Given the description of an element on the screen output the (x, y) to click on. 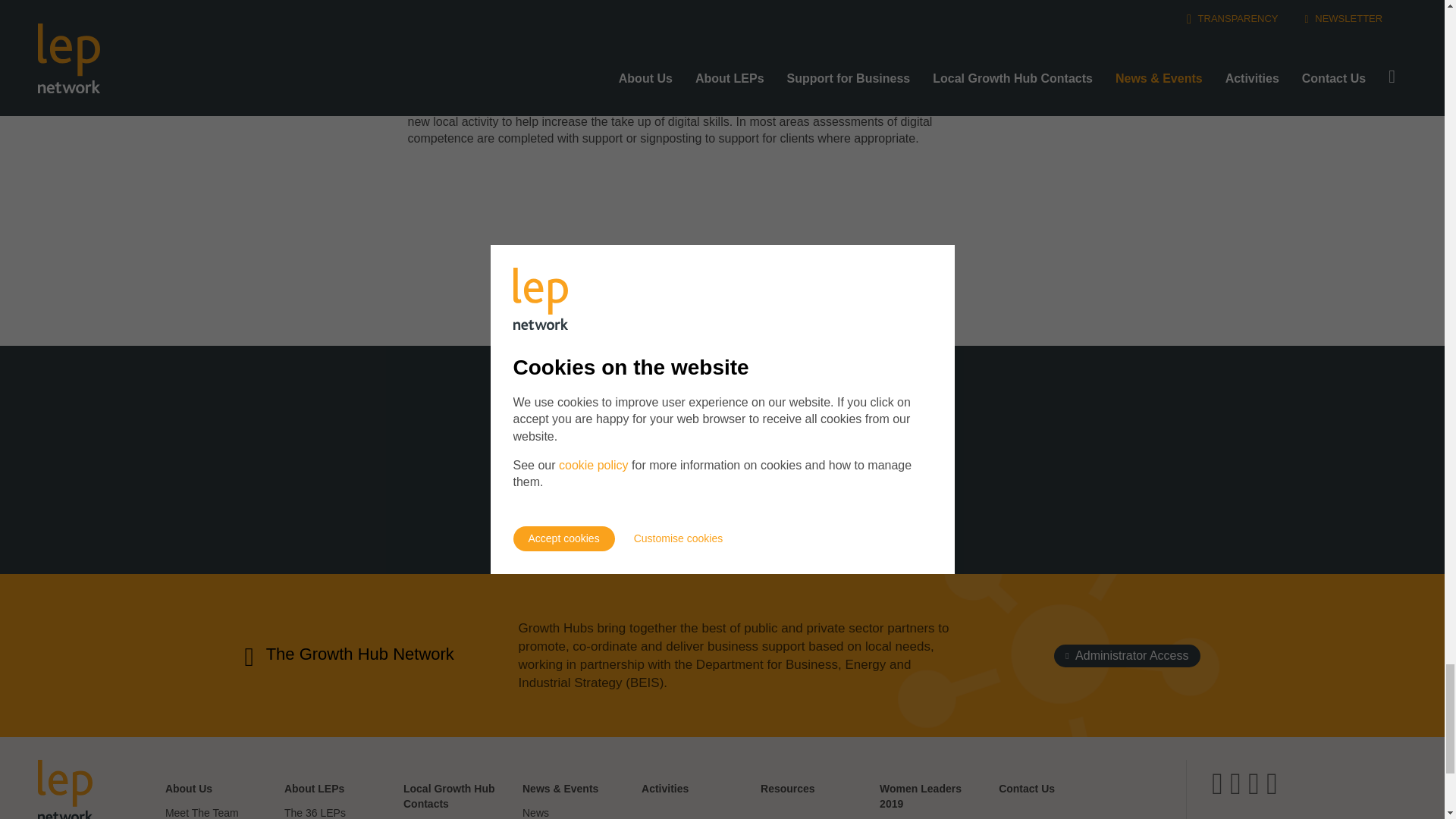
Privacy Policy (862, 473)
